Given the description of an element on the screen output the (x, y) to click on. 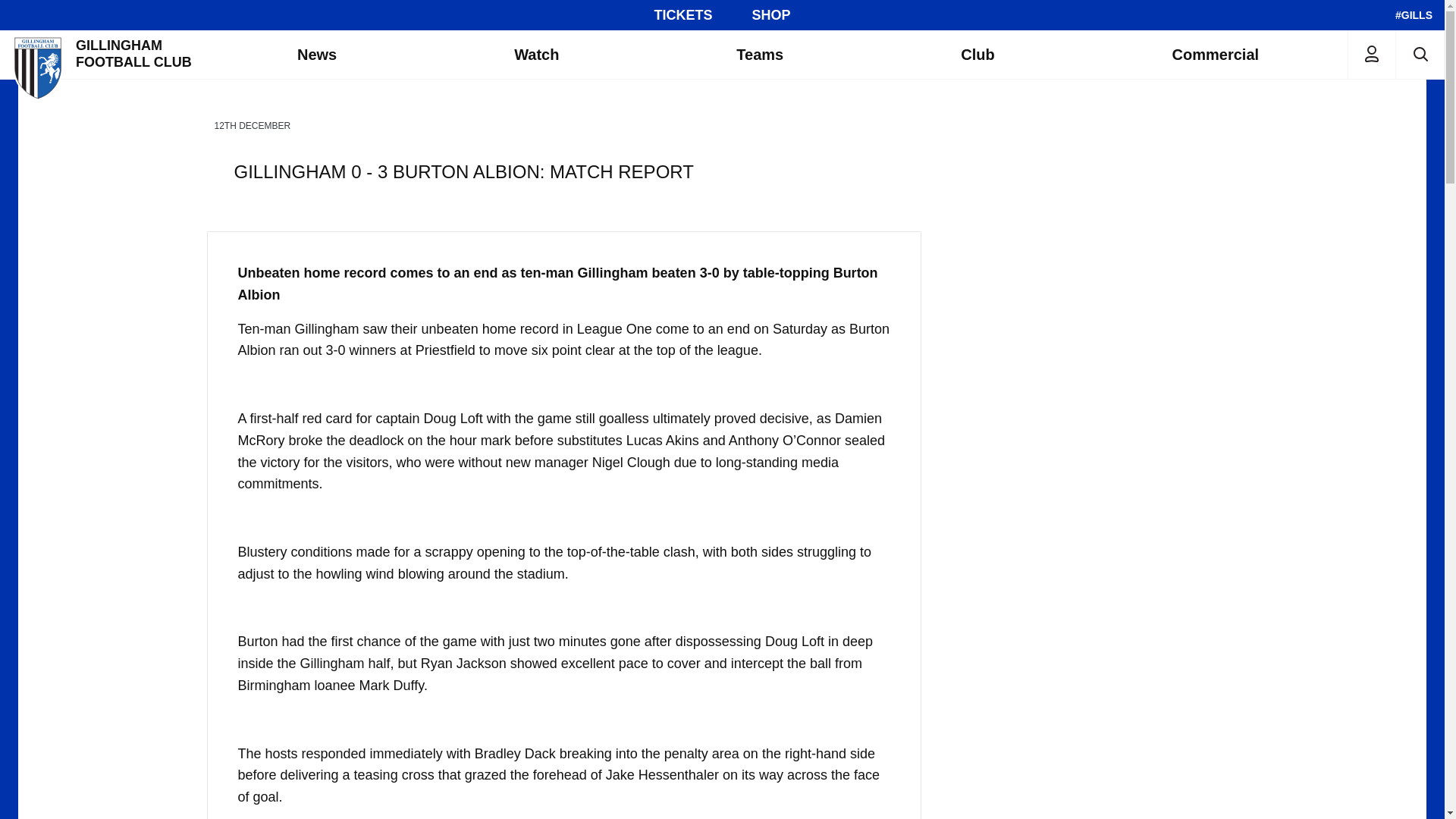
TICKETS (682, 15)
Gillingham Football Club (104, 54)
SHOP (771, 15)
